Given the description of an element on the screen output the (x, y) to click on. 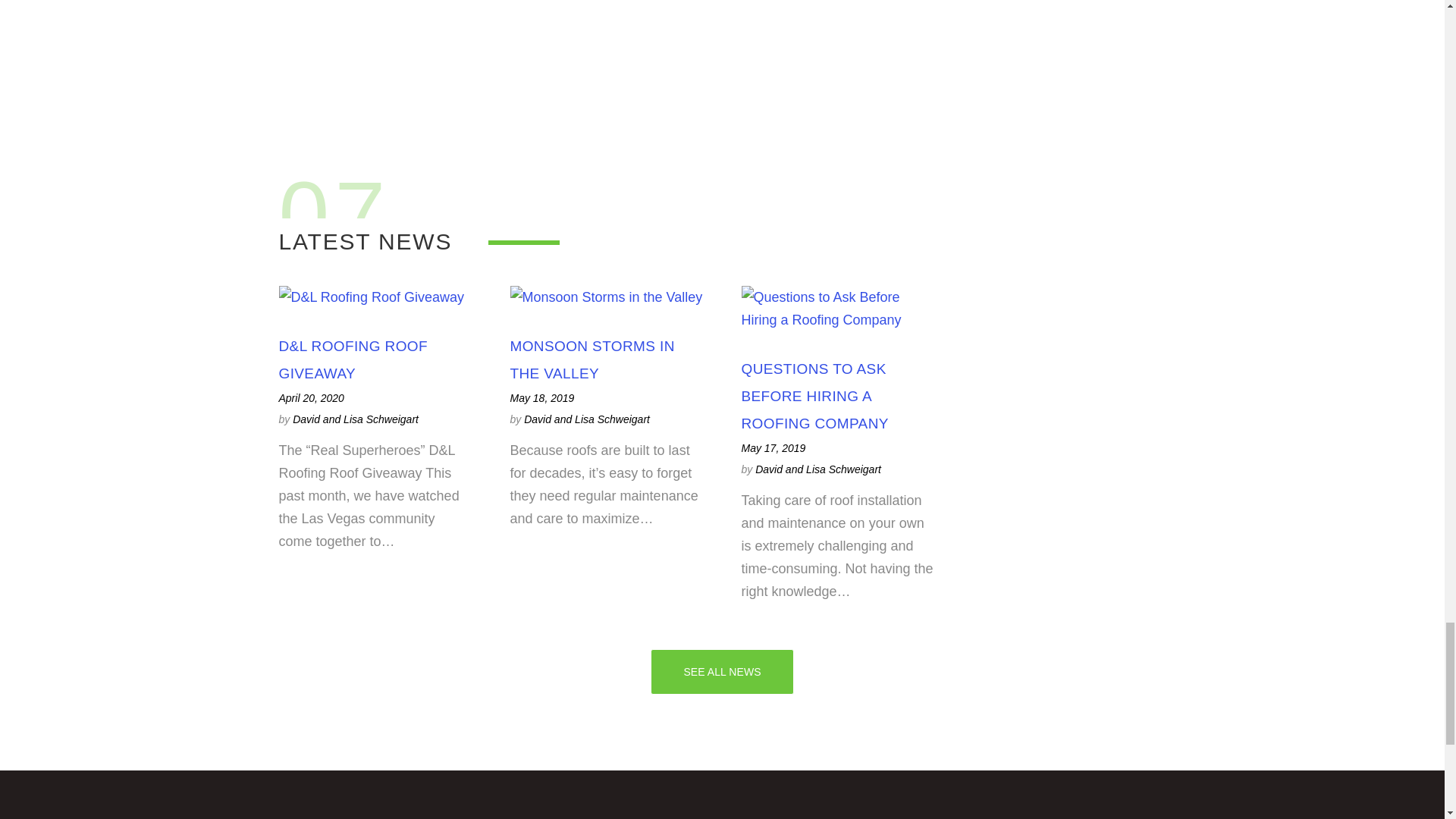
April 20, 2020 (311, 397)
Monsoon Storms in the Valley (591, 359)
David and Lisa Schweigart (355, 419)
Questions to Ask Before Hiring a Roofing Company (814, 396)
